Given the description of an element on the screen output the (x, y) to click on. 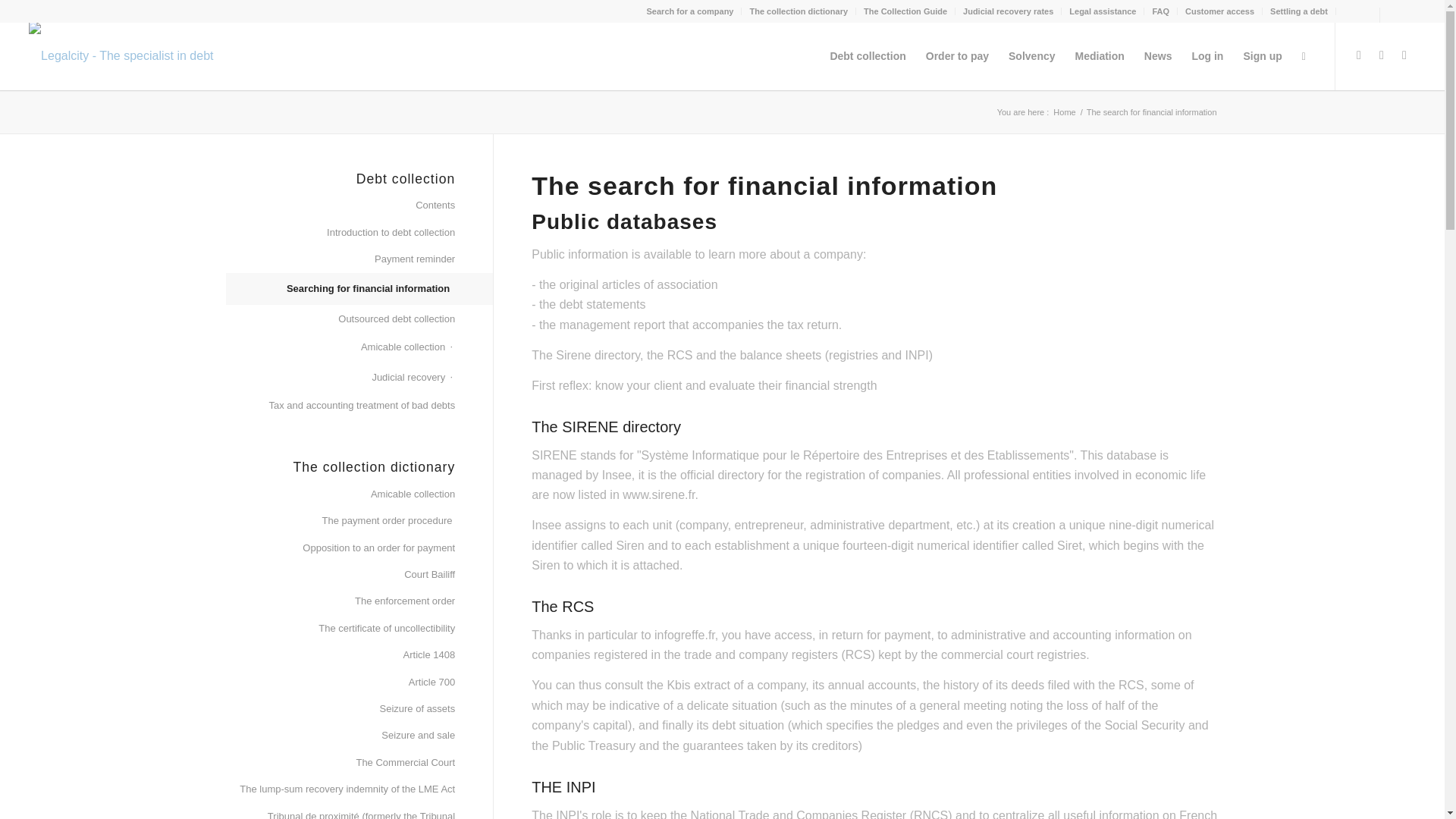
Settling a debt (1298, 11)
Introduction to debt collection (340, 233)
logo-legalcity-2020-blue-hori-2020-s (130, 56)
Debt collection (867, 56)
Home (1064, 112)
Mediation (1099, 56)
LinkedIn (1404, 55)
Tax and accounting treatment of bad debts (340, 406)
Amicable collection (340, 494)
The Collection Guide (905, 11)
